Given the description of an element on the screen output the (x, y) to click on. 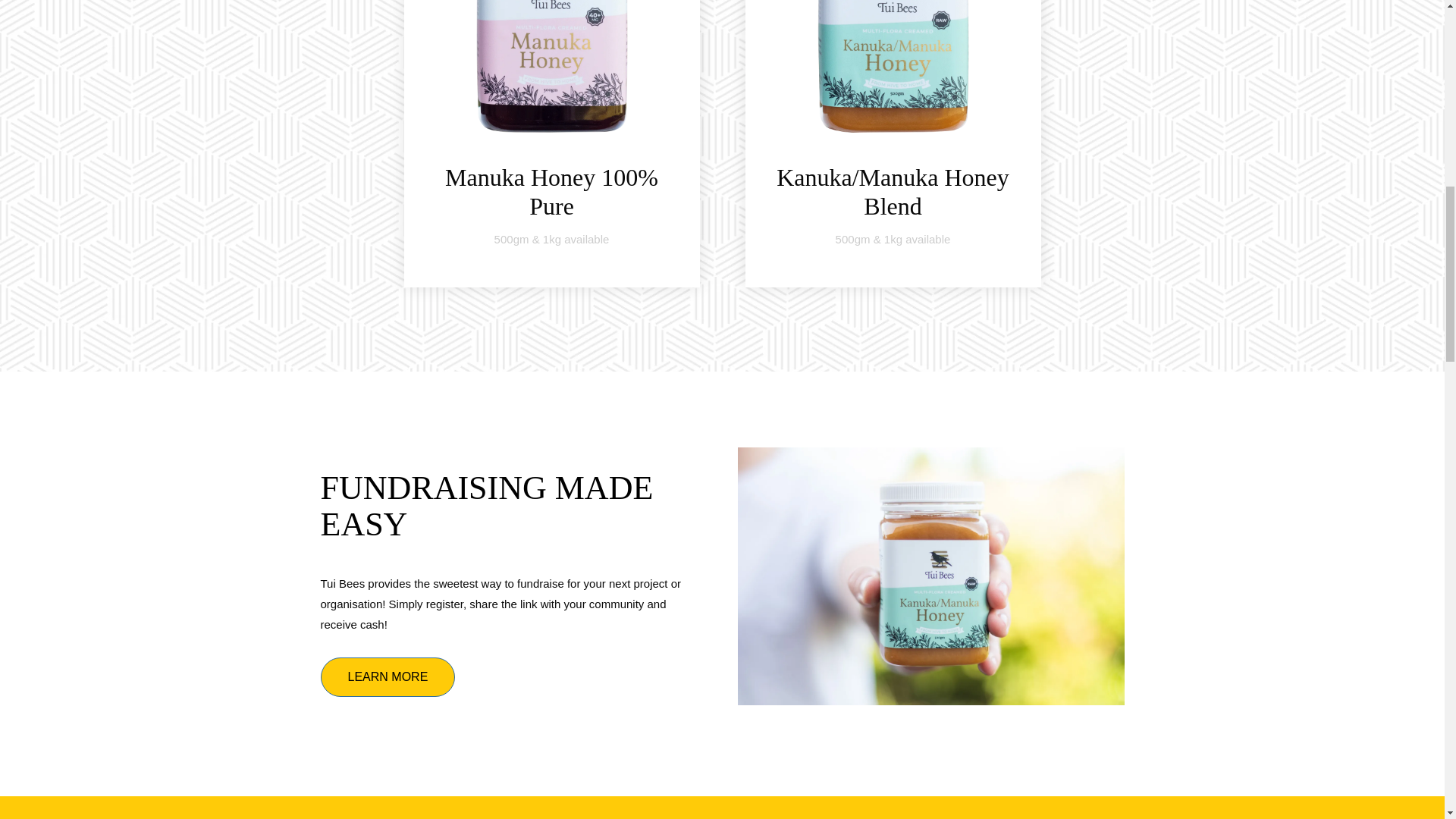
FUNDRAISING MADE EASY (486, 505)
Blend-500gm-Front (892, 65)
Manuka-500gm-Front (551, 65)
LEARN MORE (387, 676)
Fundraising made easy (486, 505)
